Given the description of an element on the screen output the (x, y) to click on. 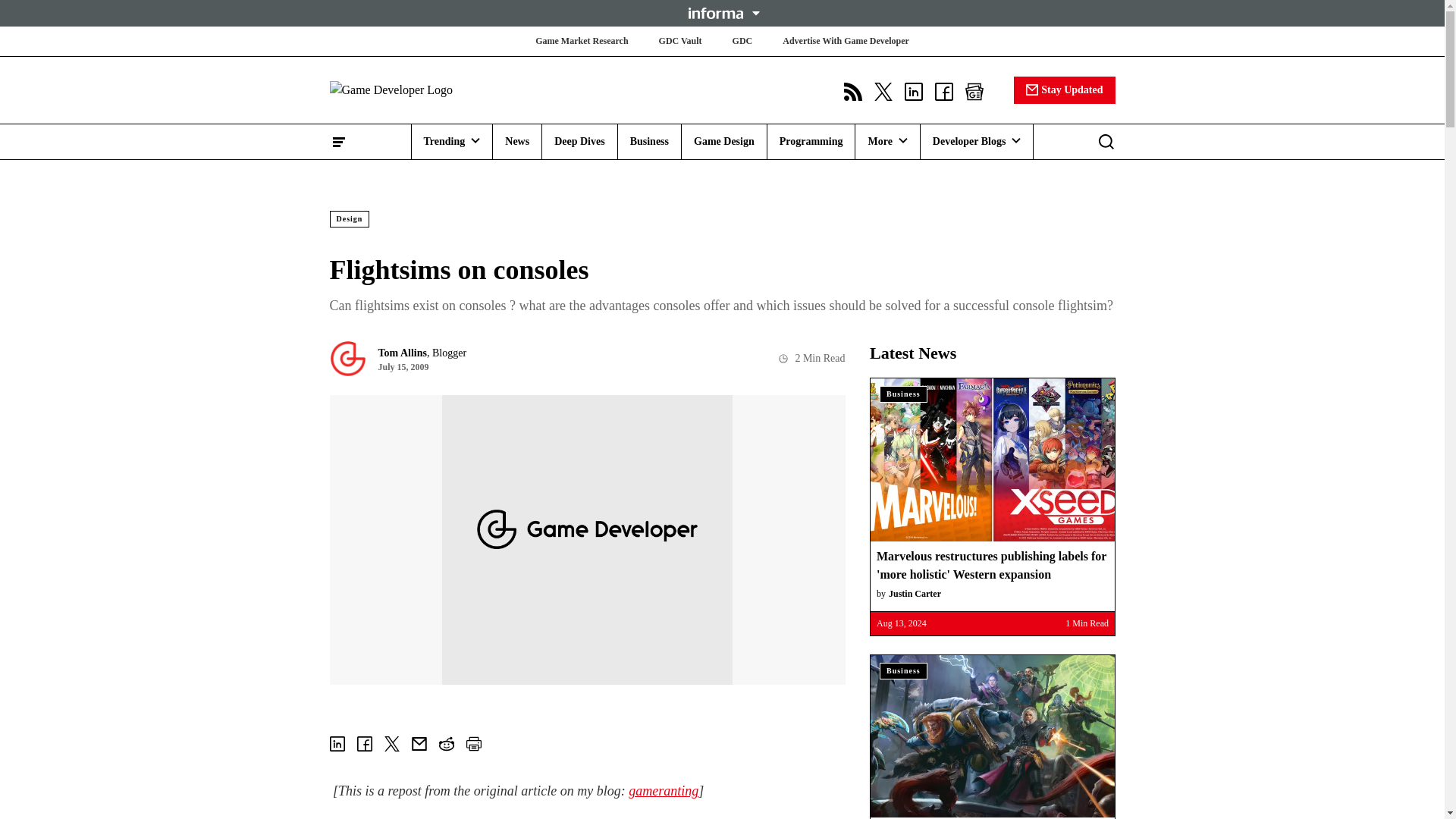
News (517, 141)
GDC Vault (680, 41)
Picture of Tom Allins (347, 358)
Business (649, 141)
Deep Dives (579, 141)
Game Design (724, 141)
Game Developer Logo (419, 90)
Advertise With Game Developer (845, 41)
GDC (742, 41)
Stay Updated (1064, 89)
